Given the description of an element on the screen output the (x, y) to click on. 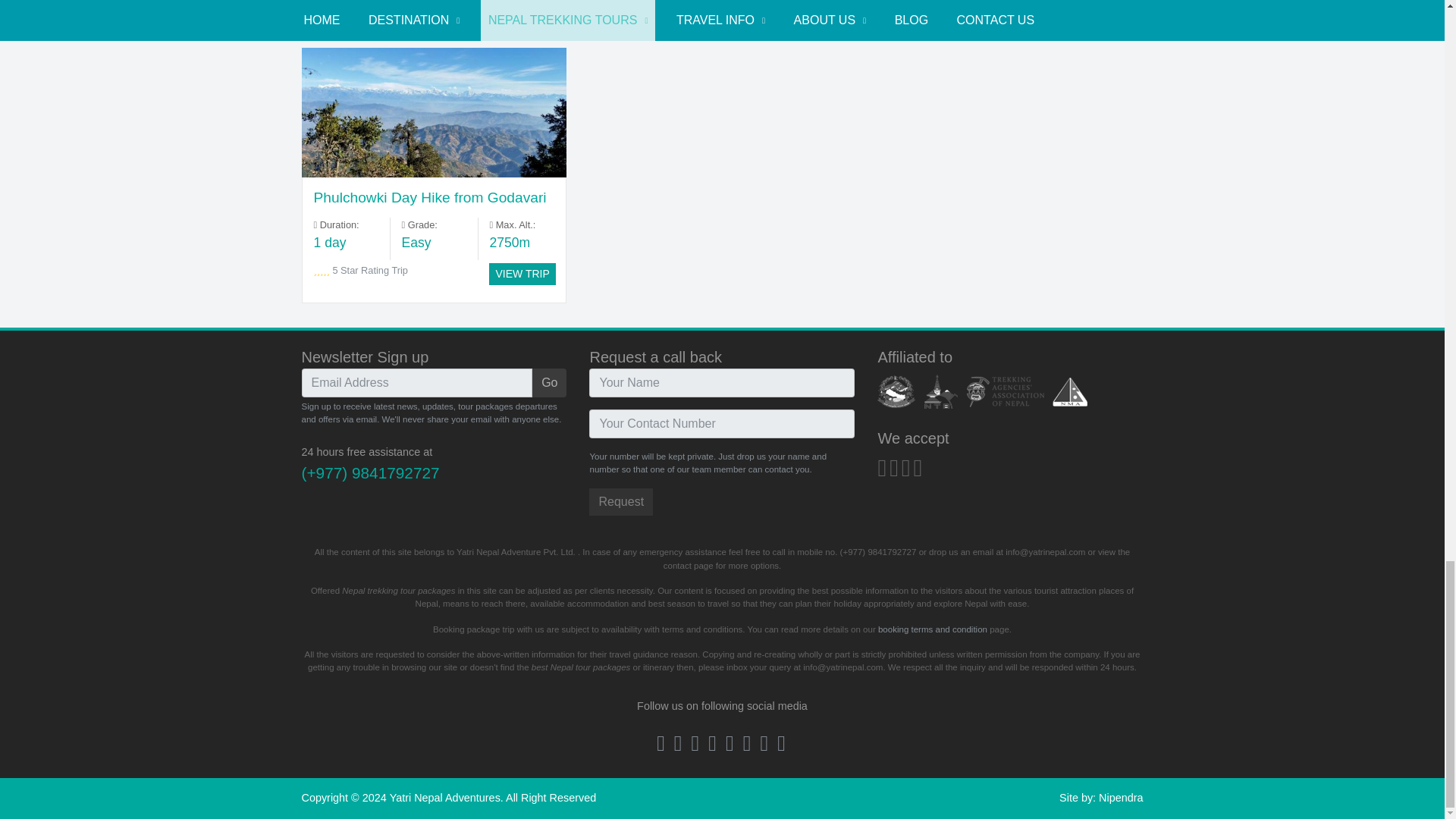
Request (620, 501)
Go (549, 382)
